Given the description of an element on the screen output the (x, y) to click on. 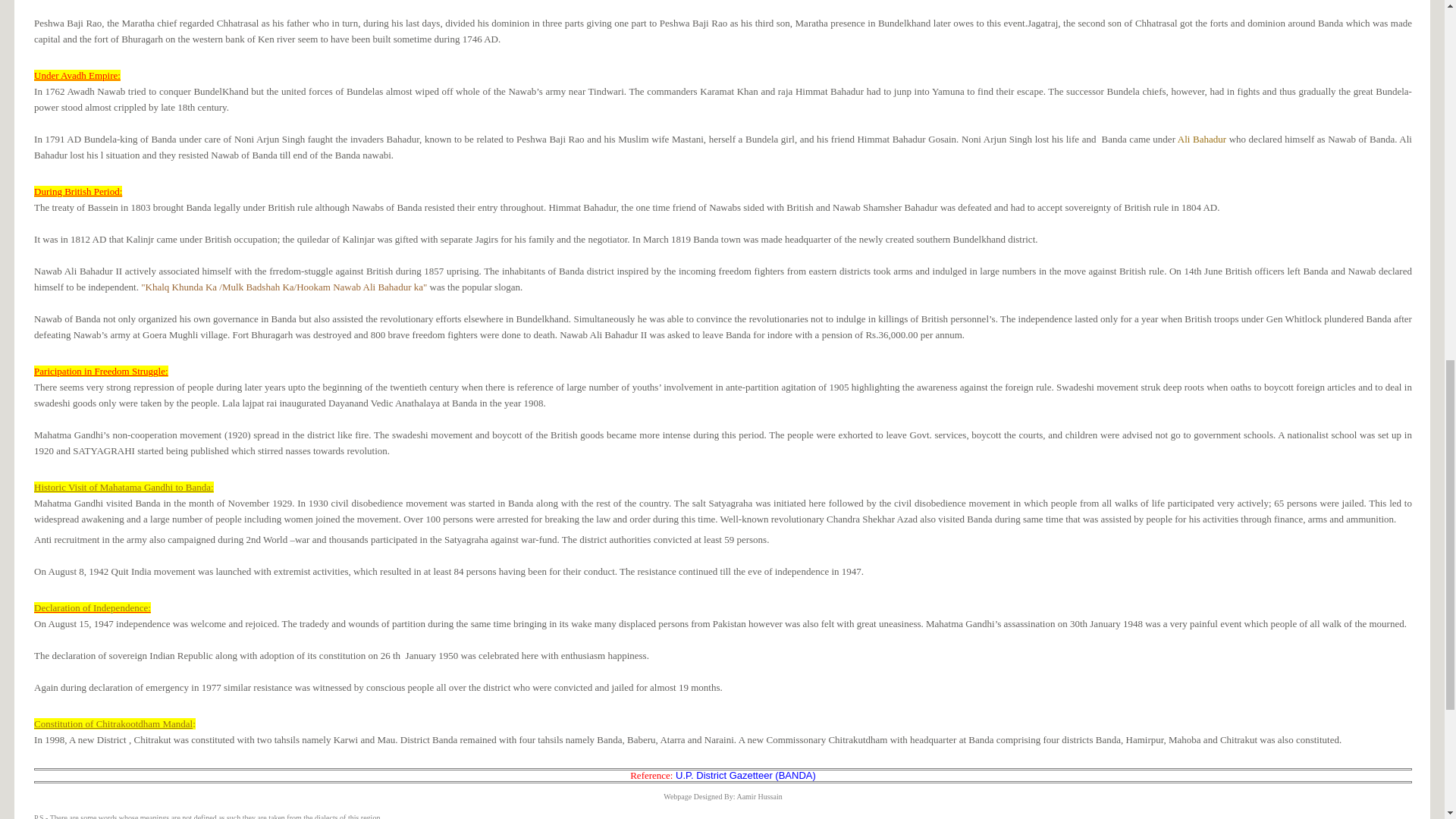
Paricipation in Freedom Struggle: (100, 370)
Historic Visit of Mahatama Gandhi to Banda: (123, 487)
Ali Bahadur (1201, 138)
Under Avadh Empire: (76, 75)
Constitution of Chitrakootdham Mandal: (114, 723)
During British Period: (77, 191)
Declaration of Independence: (92, 607)
